Given the description of an element on the screen output the (x, y) to click on. 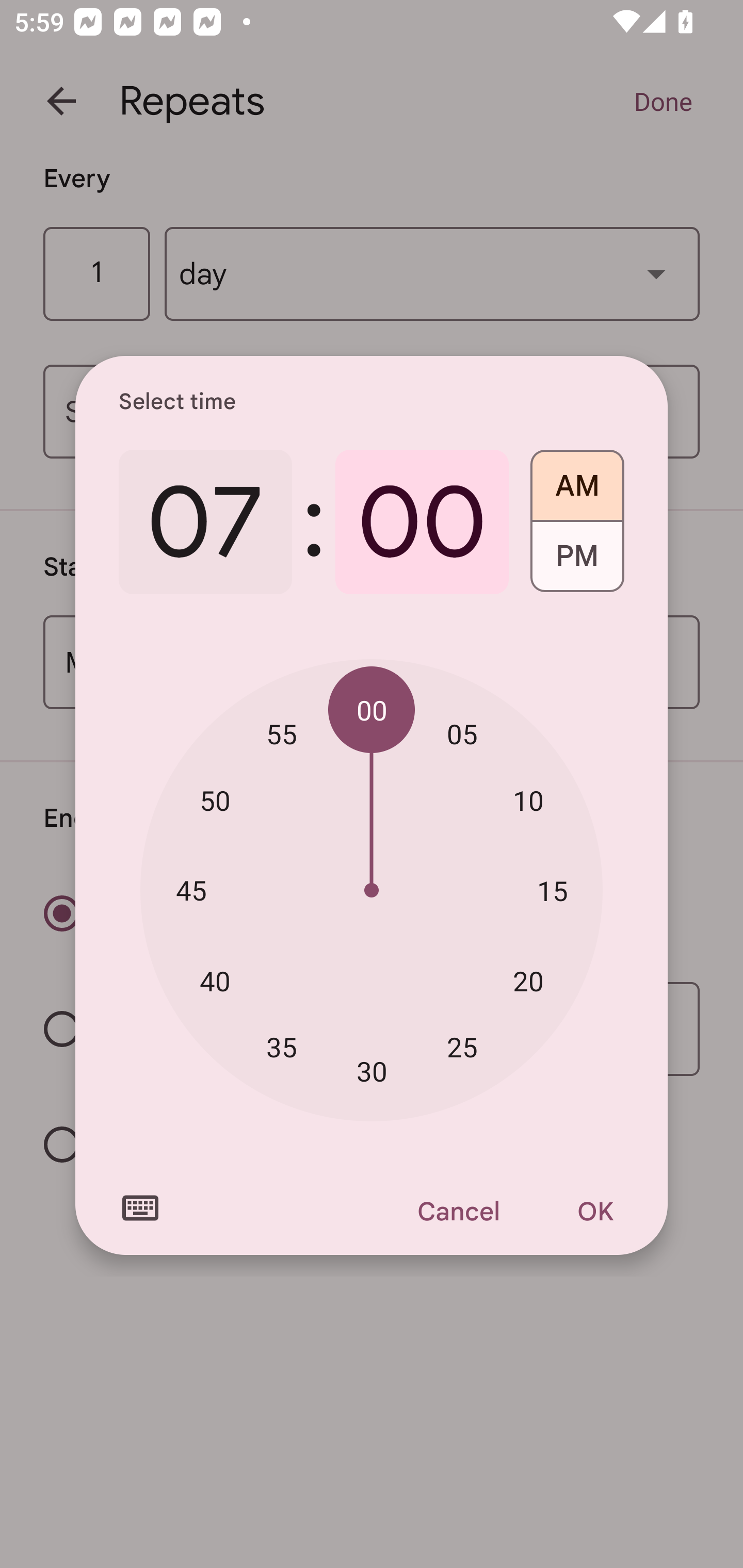
AM (577, 478)
07 7 o'clock (204, 522)
00 0 minutes (421, 522)
PM (577, 563)
00 00 minutes (371, 710)
55 55 minutes (281, 733)
05 05 minutes (462, 733)
50 50 minutes (214, 800)
10 10 minutes (528, 800)
45 45 minutes (190, 889)
15 15 minutes (551, 890)
40 40 minutes (214, 980)
20 20 minutes (528, 980)
35 35 minutes (281, 1046)
25 25 minutes (462, 1046)
30 30 minutes (371, 1071)
Switch to text input mode for the time input. (140, 1208)
Cancel (458, 1211)
OK (595, 1211)
